Given the description of an element on the screen output the (x, y) to click on. 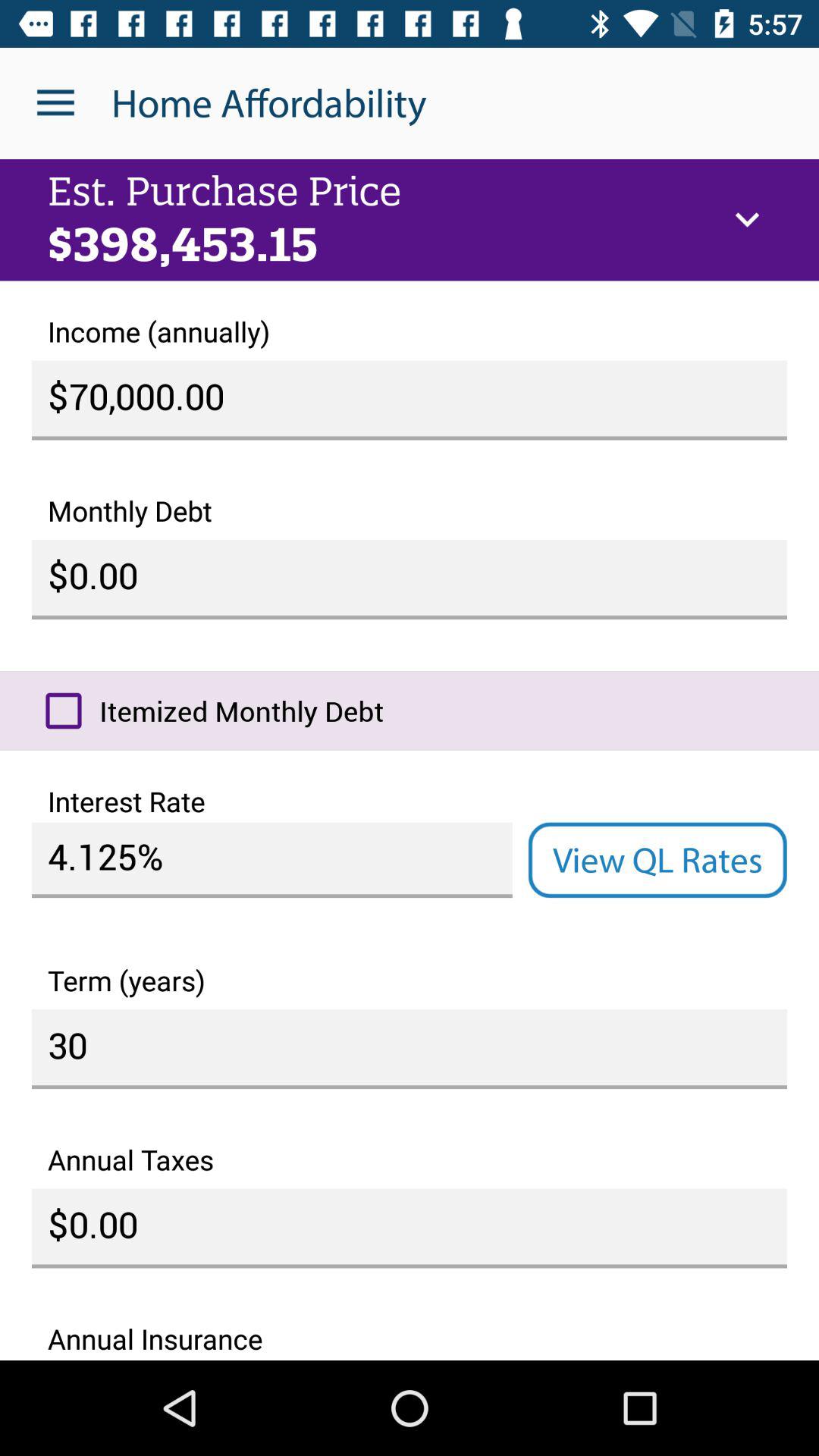
open icon to the right of est. purchase price icon (747, 219)
